Given the description of an element on the screen output the (x, y) to click on. 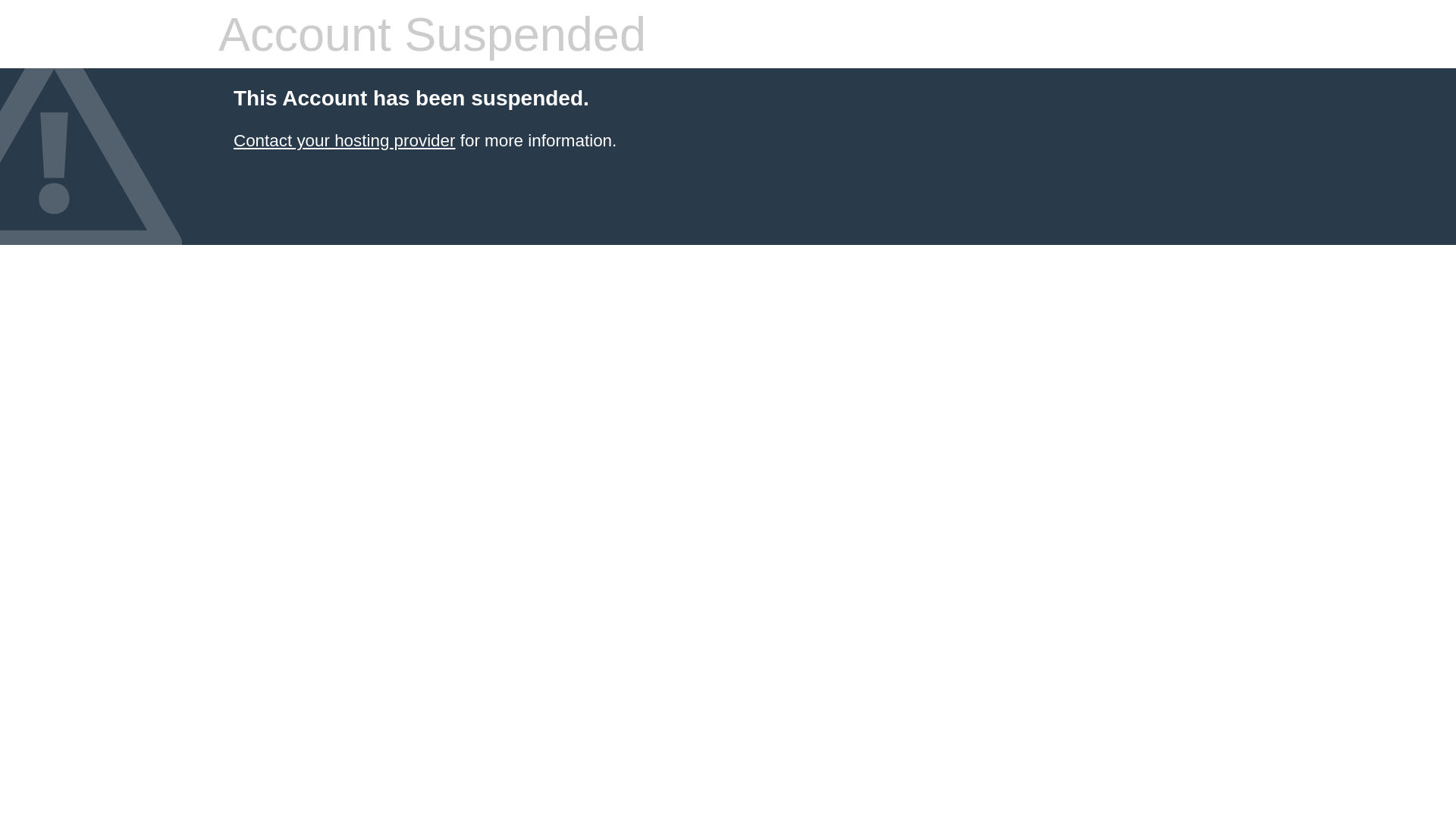
Contact your hosting provider Element type: text (344, 140)
